Given the description of an element on the screen output the (x, y) to click on. 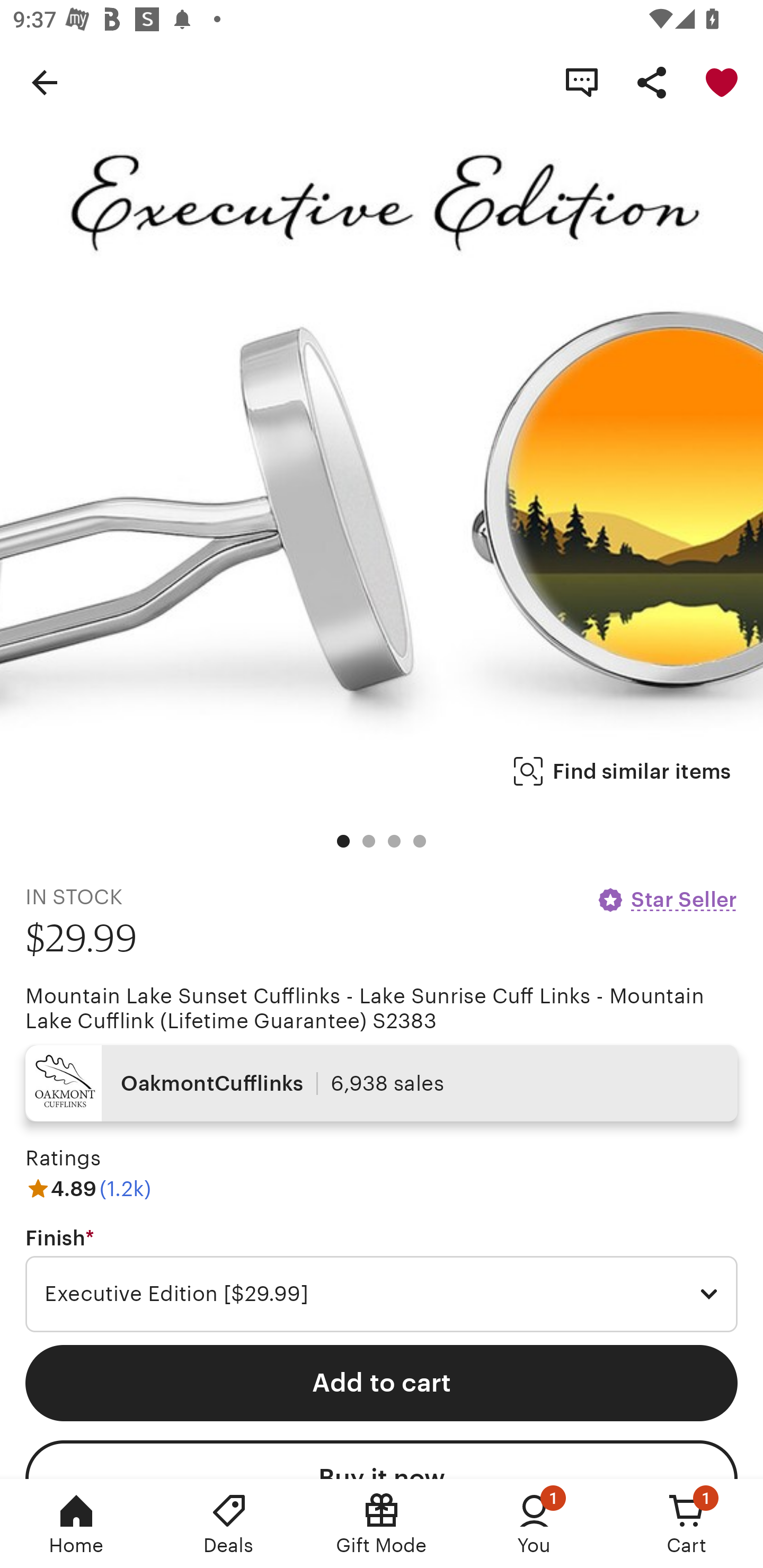
Navigate up (44, 81)
Contact shop (581, 81)
Share (651, 81)
Find similar items (622, 771)
Star Seller (666, 899)
OakmontCufflinks 6,938 sales (381, 1083)
Ratings (62, 1157)
4.89 (1.2k) (88, 1188)
Finish * Required Executive Edition [$29.99] (381, 1279)
Executive Edition [$29.99] (381, 1293)
Add to cart (381, 1382)
Deals (228, 1523)
Gift Mode (381, 1523)
You, 1 new notification You (533, 1523)
Cart, 1 new notification Cart (686, 1523)
